Given the description of an element on the screen output the (x, y) to click on. 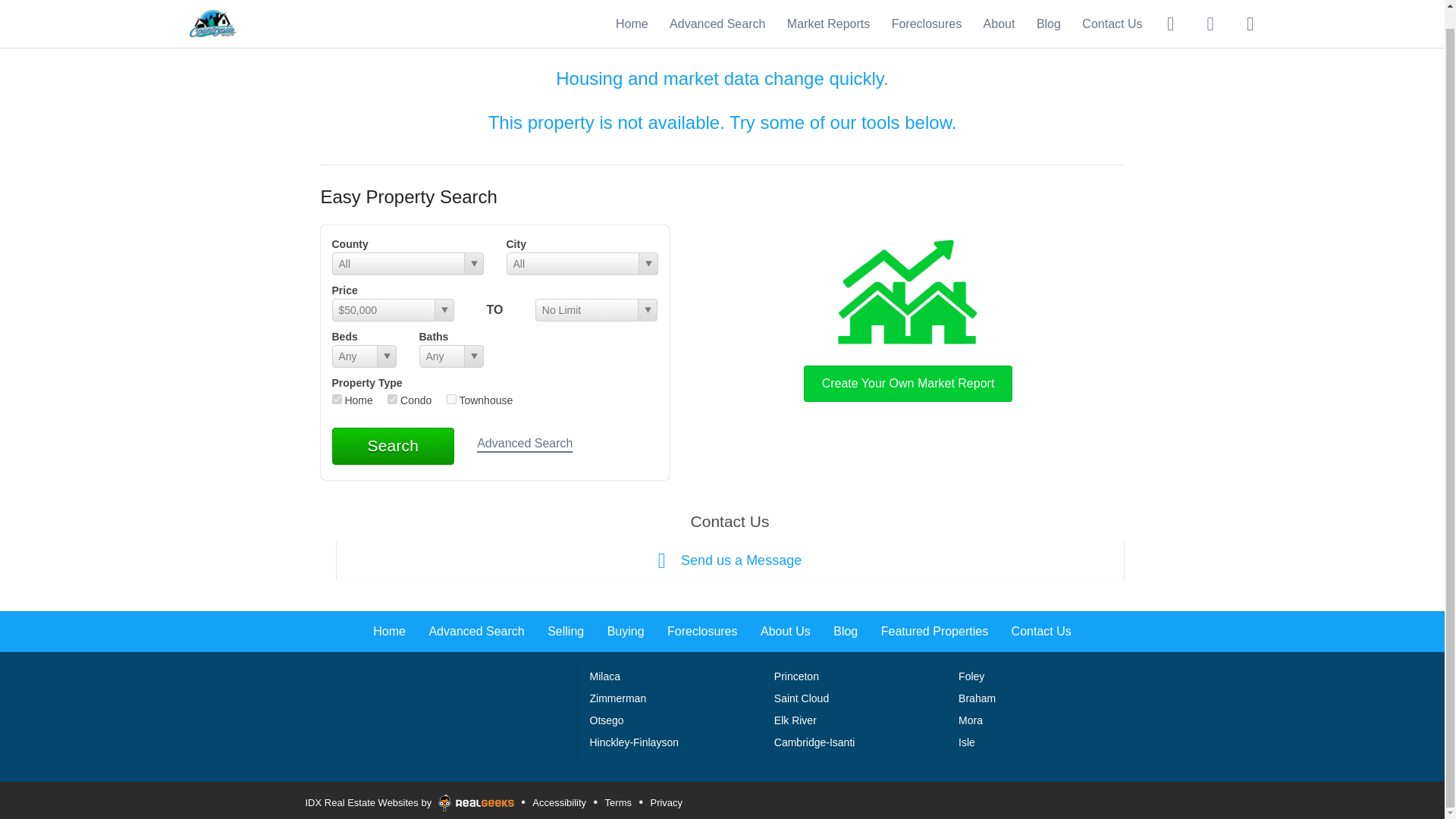
Buying (626, 631)
Saint Cloud (801, 698)
Otsego (606, 720)
Elk River (795, 720)
Zimmerman (617, 698)
Search (392, 445)
Blog (1048, 6)
Advanced Search (524, 444)
Princeton (796, 676)
Milaca (604, 676)
Hinckley-Finlayson (633, 742)
Foreclosures (925, 6)
About Us (785, 631)
res (336, 398)
Contact Us (1041, 631)
